Given the description of an element on the screen output the (x, y) to click on. 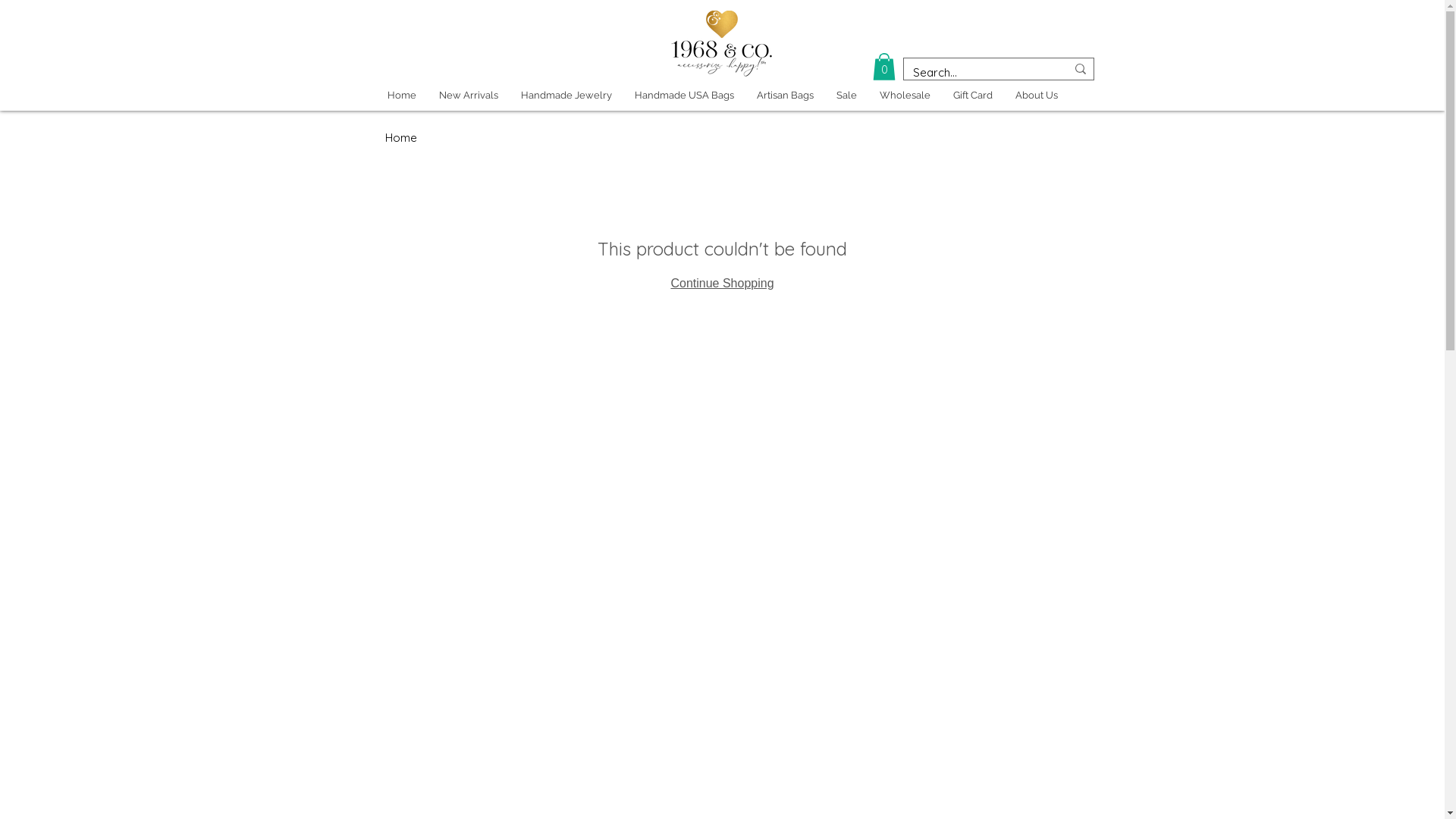
Home Element type: text (401, 95)
Gift Card Element type: text (972, 95)
Handmade Jewelry Element type: text (566, 95)
Artisan Bags Element type: text (784, 95)
New Arrivals Element type: text (468, 95)
About Us Element type: text (1036, 95)
0 Element type: text (883, 66)
Handmade USA Bags Element type: text (684, 95)
Continue Shopping Element type: text (721, 282)
Wholesale Element type: text (904, 95)
Home Element type: text (401, 137)
Sale Element type: text (846, 95)
